Given the description of an element on the screen output the (x, y) to click on. 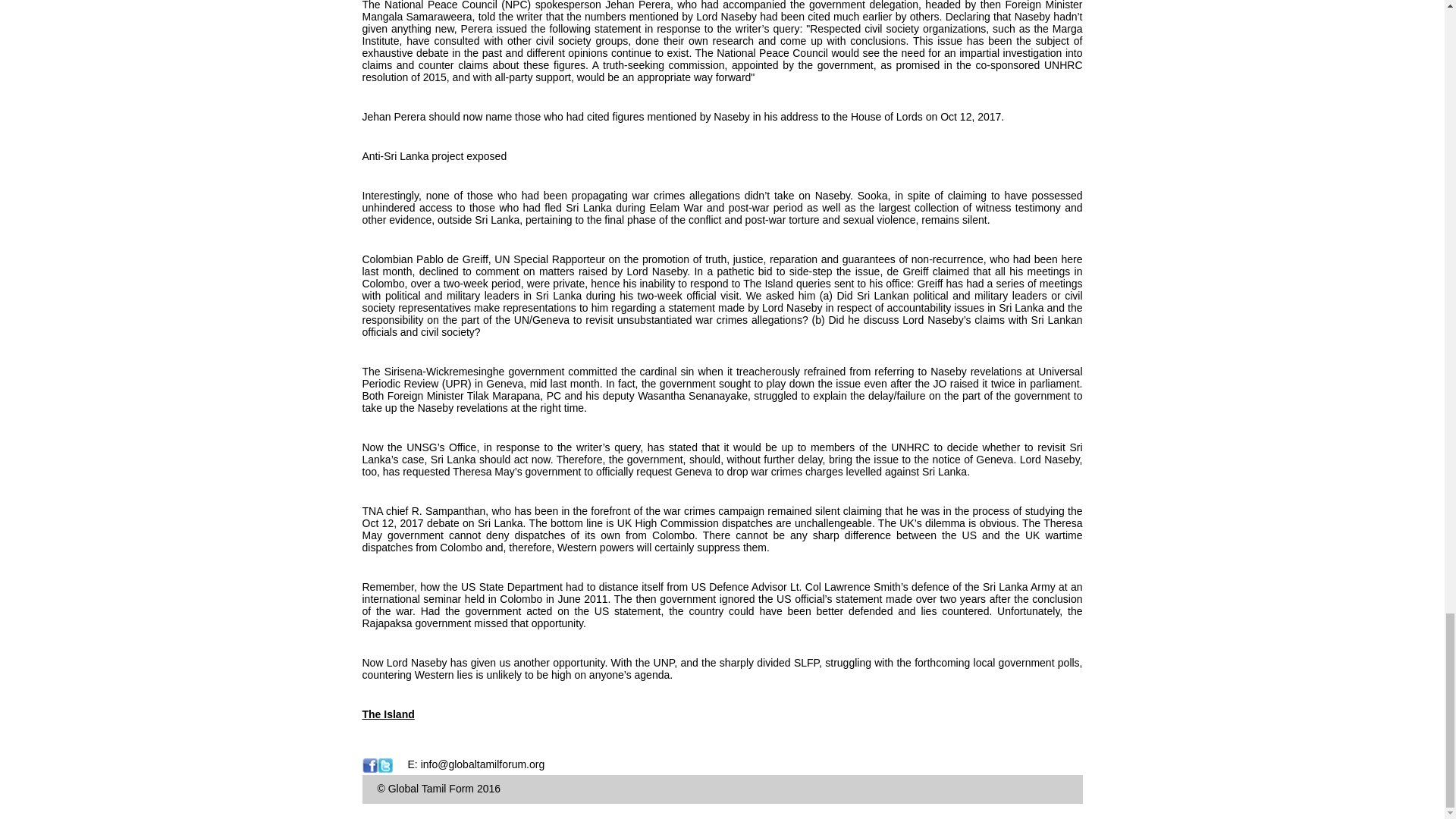
The Island (388, 714)
